Given the description of an element on the screen output the (x, y) to click on. 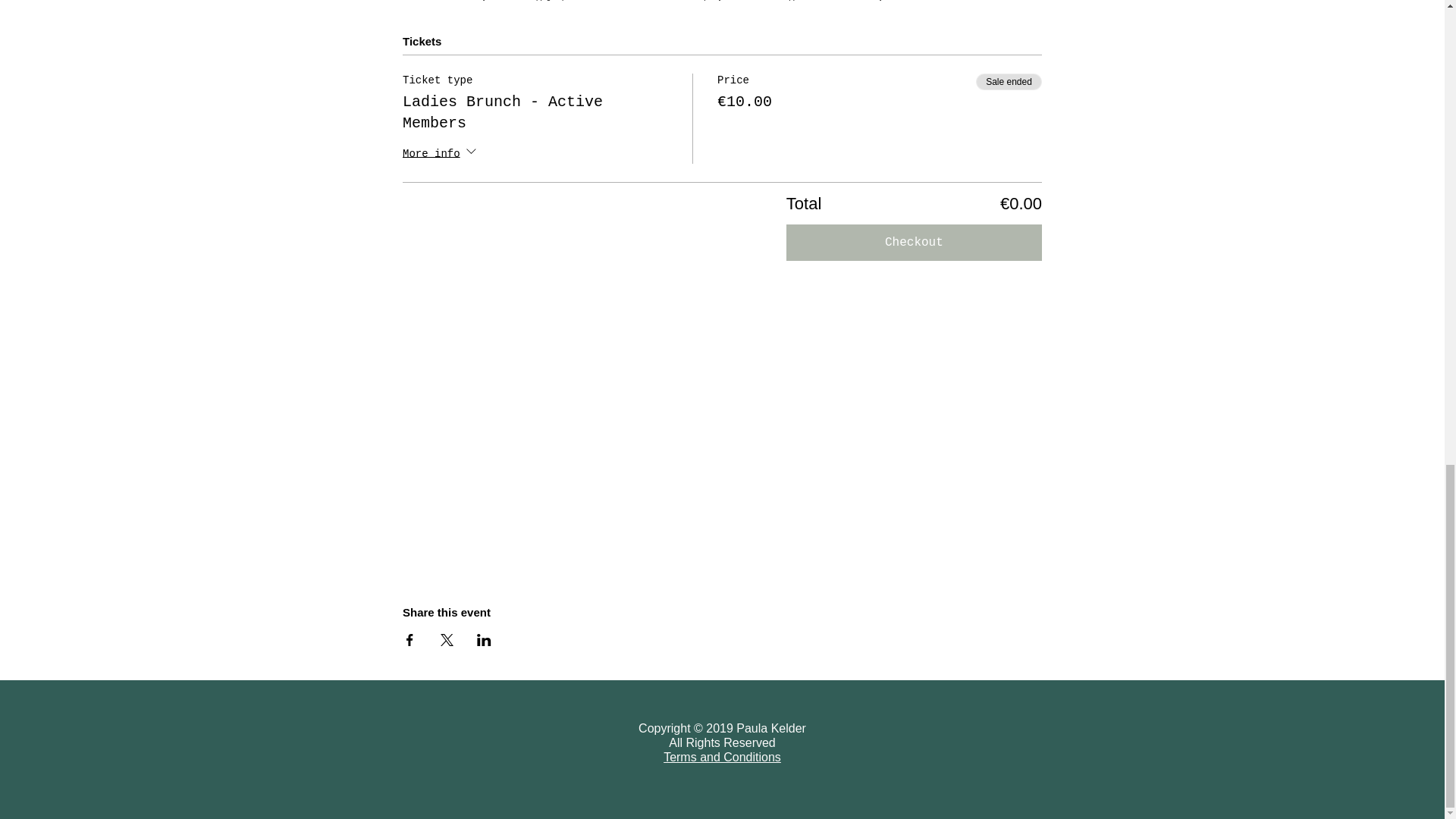
Terms and Conditions (721, 757)
More info (441, 153)
Checkout (914, 242)
